Given the description of an element on the screen output the (x, y) to click on. 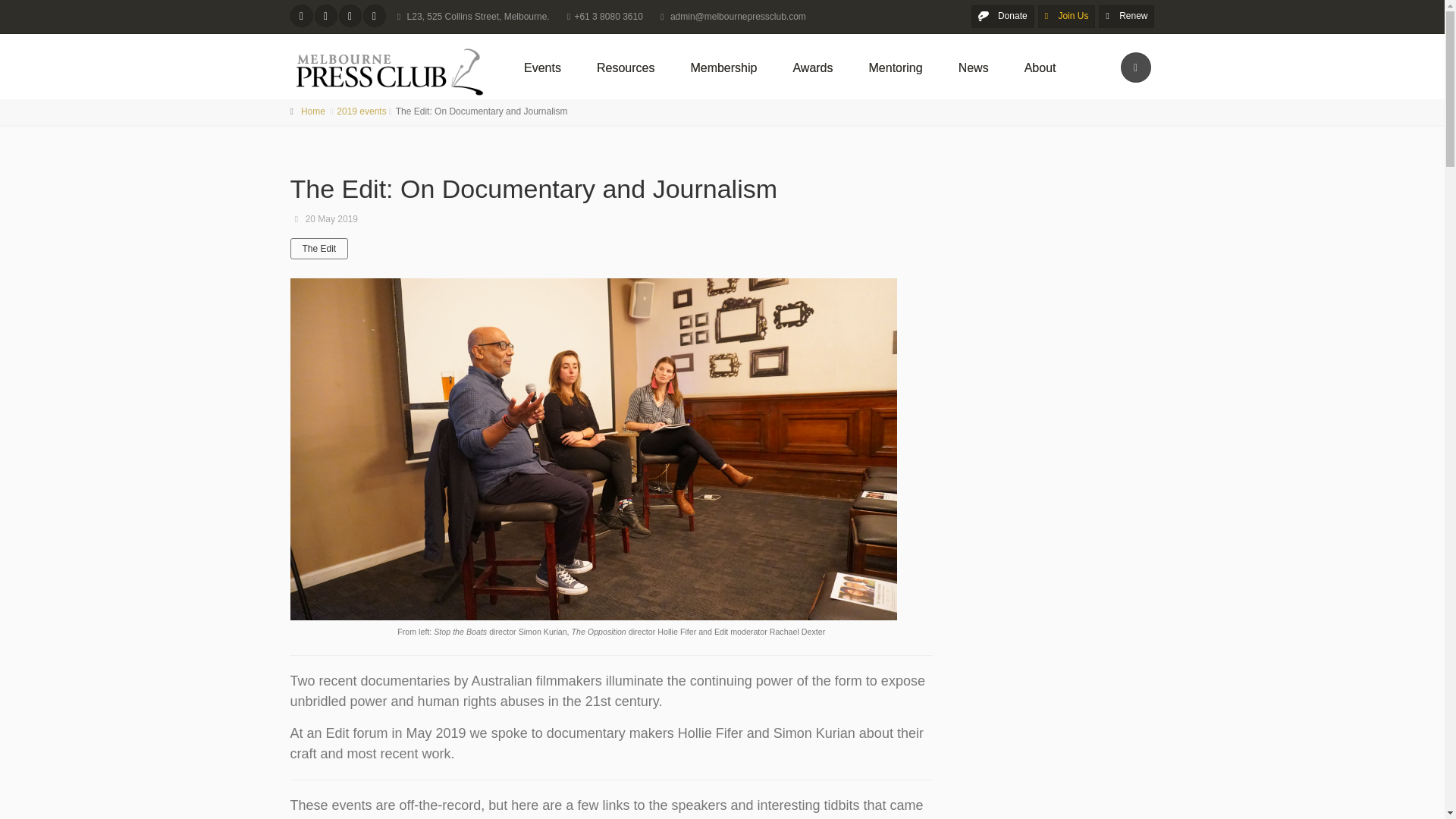
Twitter (301, 15)
Linkedin (325, 15)
Renew (1126, 15)
Membership (725, 67)
Donate (1002, 15)
Awards (814, 67)
Join Us (1067, 15)
About (1041, 67)
Events (544, 67)
Mentoring (898, 67)
Youtube (373, 15)
News (975, 67)
Resources (627, 67)
Facebook (349, 15)
